Given the description of an element on the screen output the (x, y) to click on. 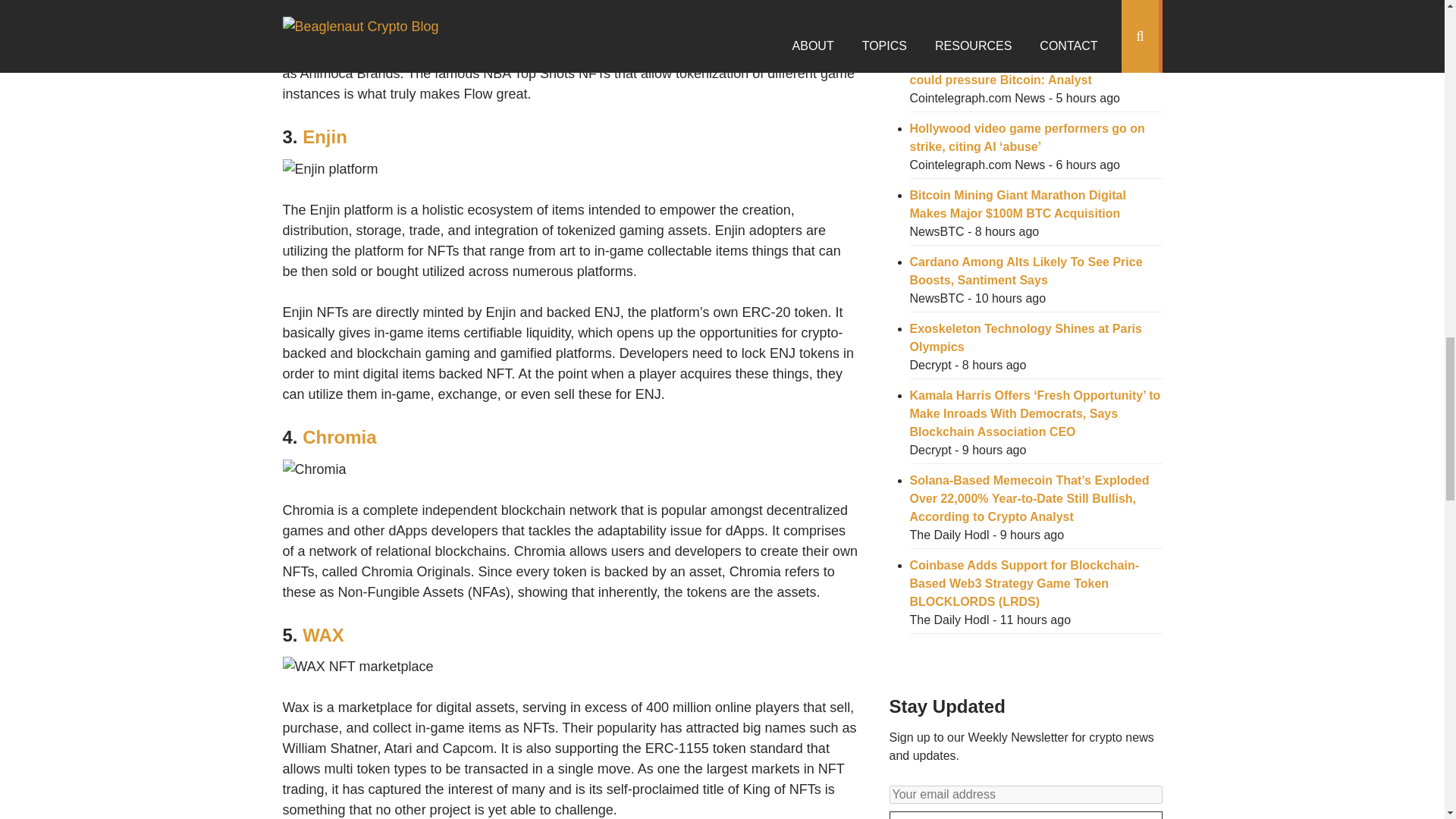
Enjin (324, 136)
WAX (322, 634)
Chromia (338, 436)
